Given the description of an element on the screen output the (x, y) to click on. 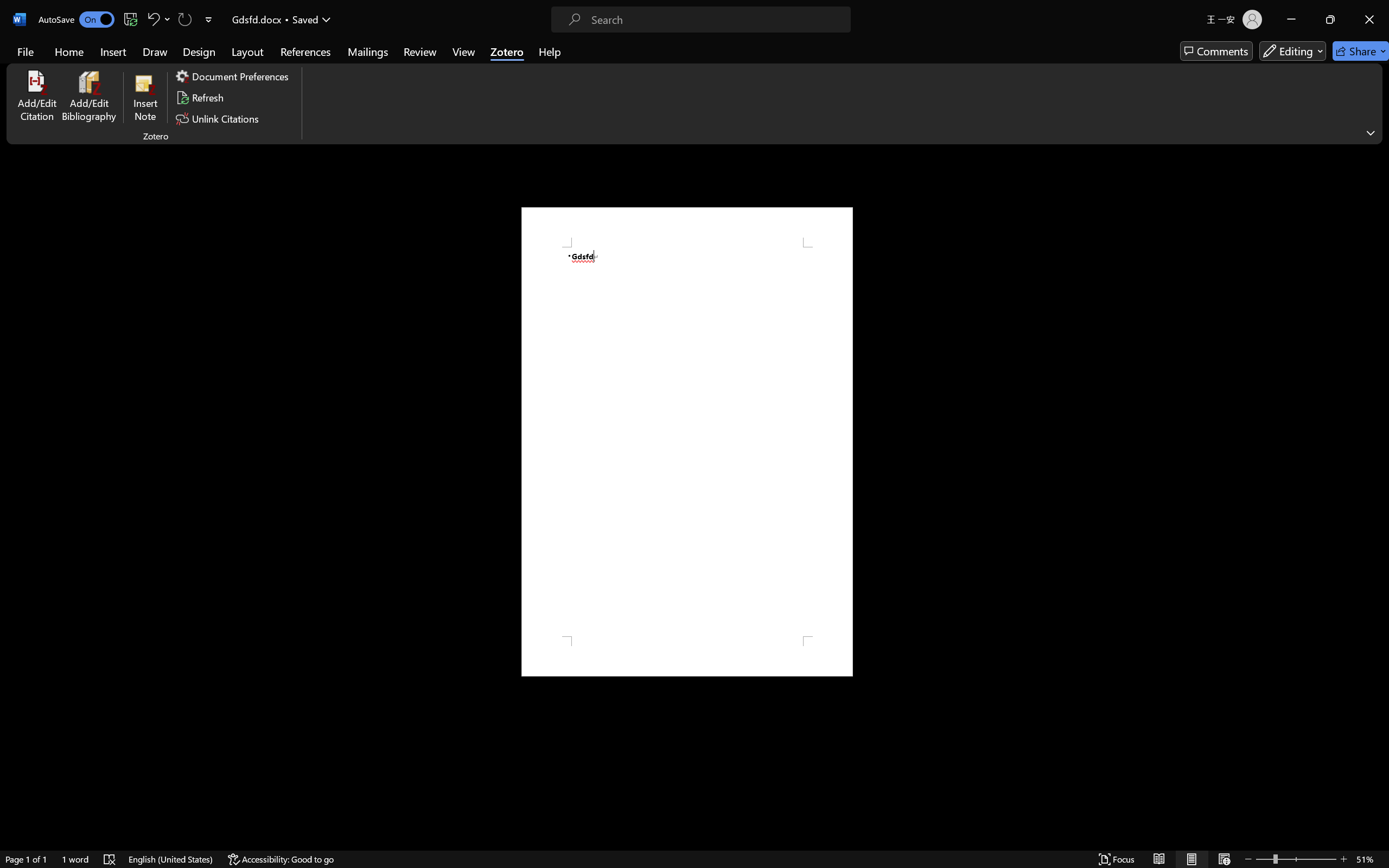
Page 1 content (686, 441)
